Given the description of an element on the screen output the (x, y) to click on. 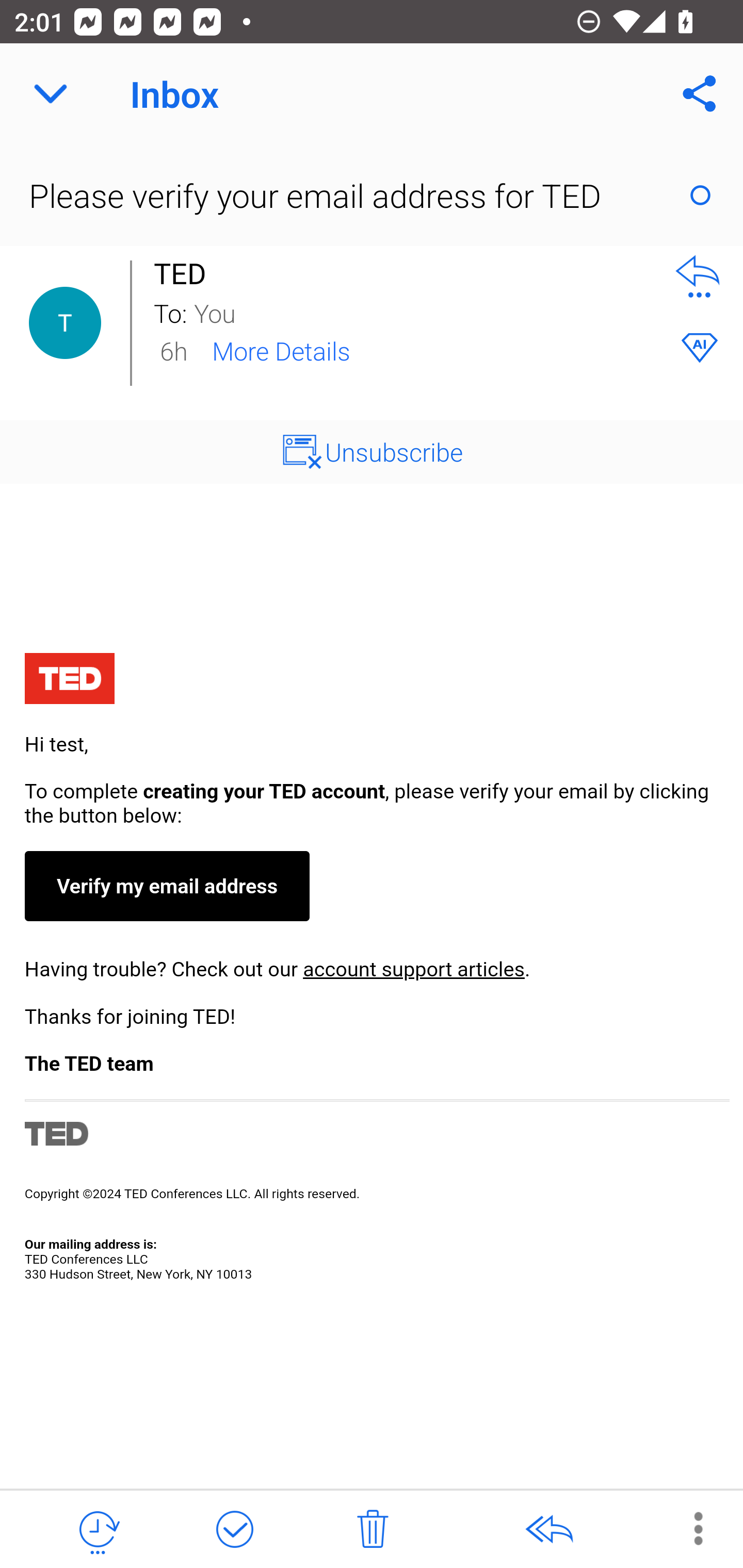
Navigate up (50, 93)
Share (699, 93)
Mark as Read (699, 194)
TED (184, 273)
Contact Details (64, 322)
You (422, 311)
More Details (280, 349)
Unsubscribe (393, 451)
ted-transactional-email-logo (69, 680)
Verify my email address (166, 885)
360000254454-Account (371, 968)
account support articles (413, 968)
More Options (687, 1528)
Snooze (97, 1529)
Mark as Done (234, 1529)
Delete (372, 1529)
Reply All (548, 1529)
